Given the description of an element on the screen output the (x, y) to click on. 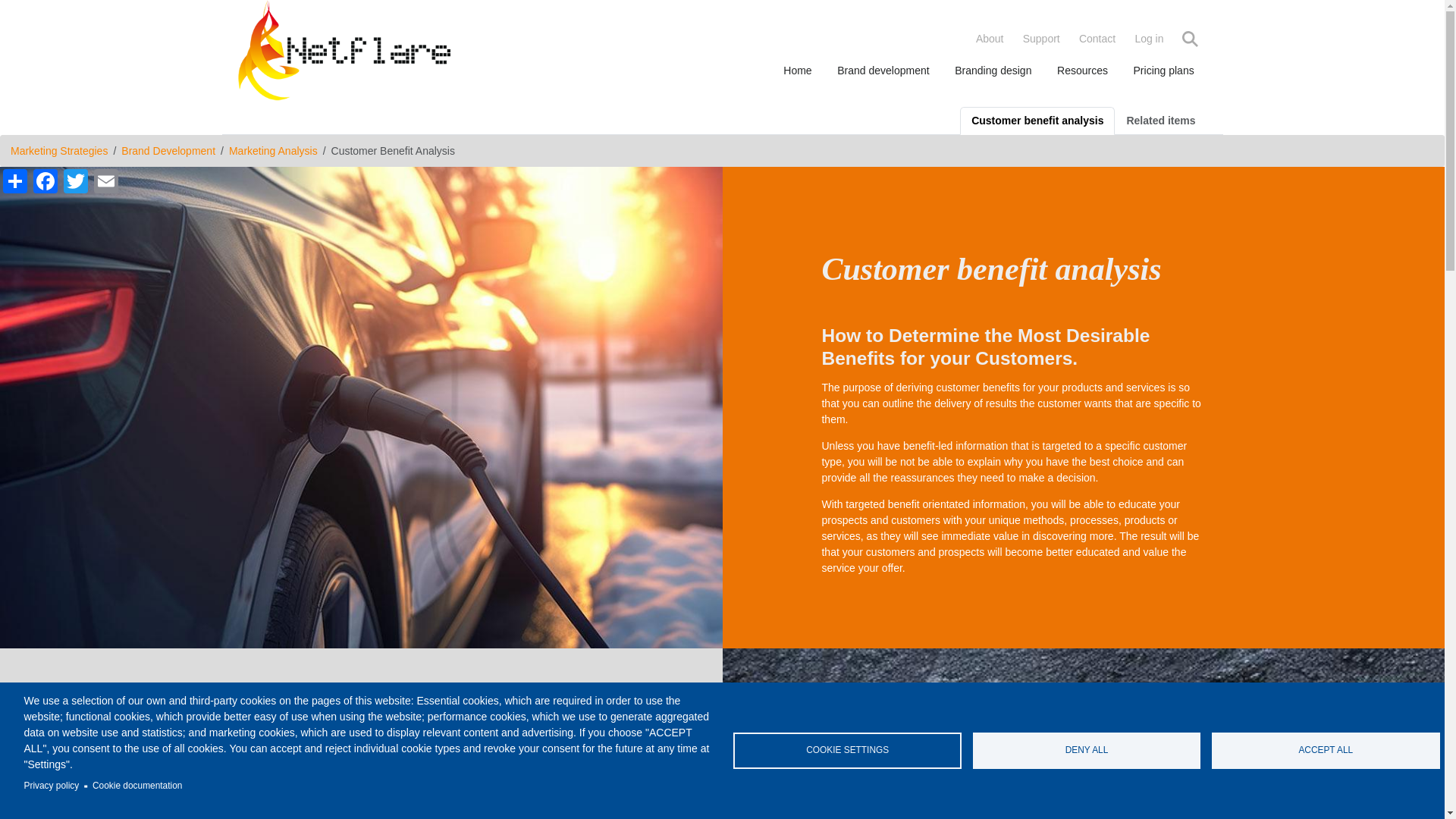
Skip to the home page (343, 53)
